Given the description of an element on the screen output the (x, y) to click on. 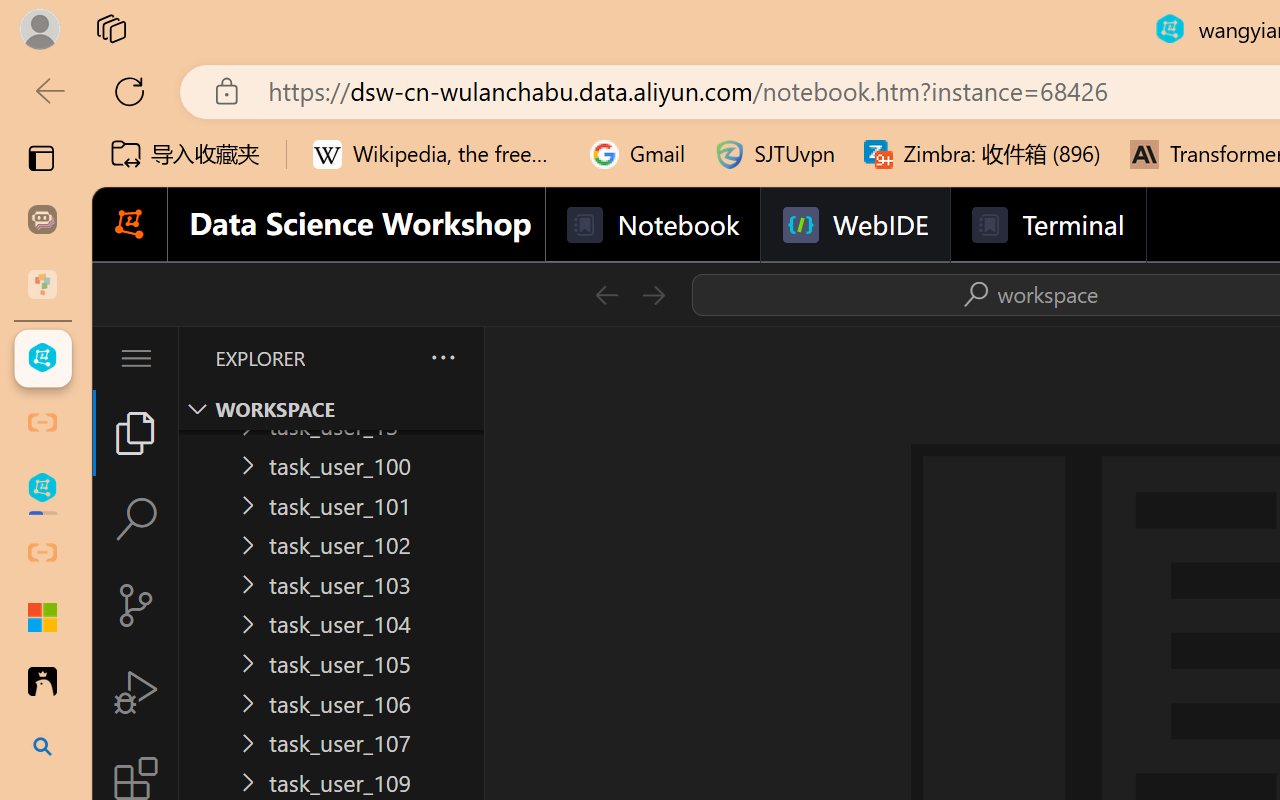
SJTUvpn (774, 154)
Notebook (652, 225)
WebIDE (854, 225)
wangyian_dsw - DSW (42, 357)
Views and More Actions... (442, 357)
wangyian_webcrawler - DSW (42, 487)
Explorer (Ctrl+Shift+E) (135, 432)
Class: menubar compact overflow-menu-only inactive (135, 358)
Go Back (Alt+LeftArrow) (605, 294)
